Given the description of an element on the screen output the (x, y) to click on. 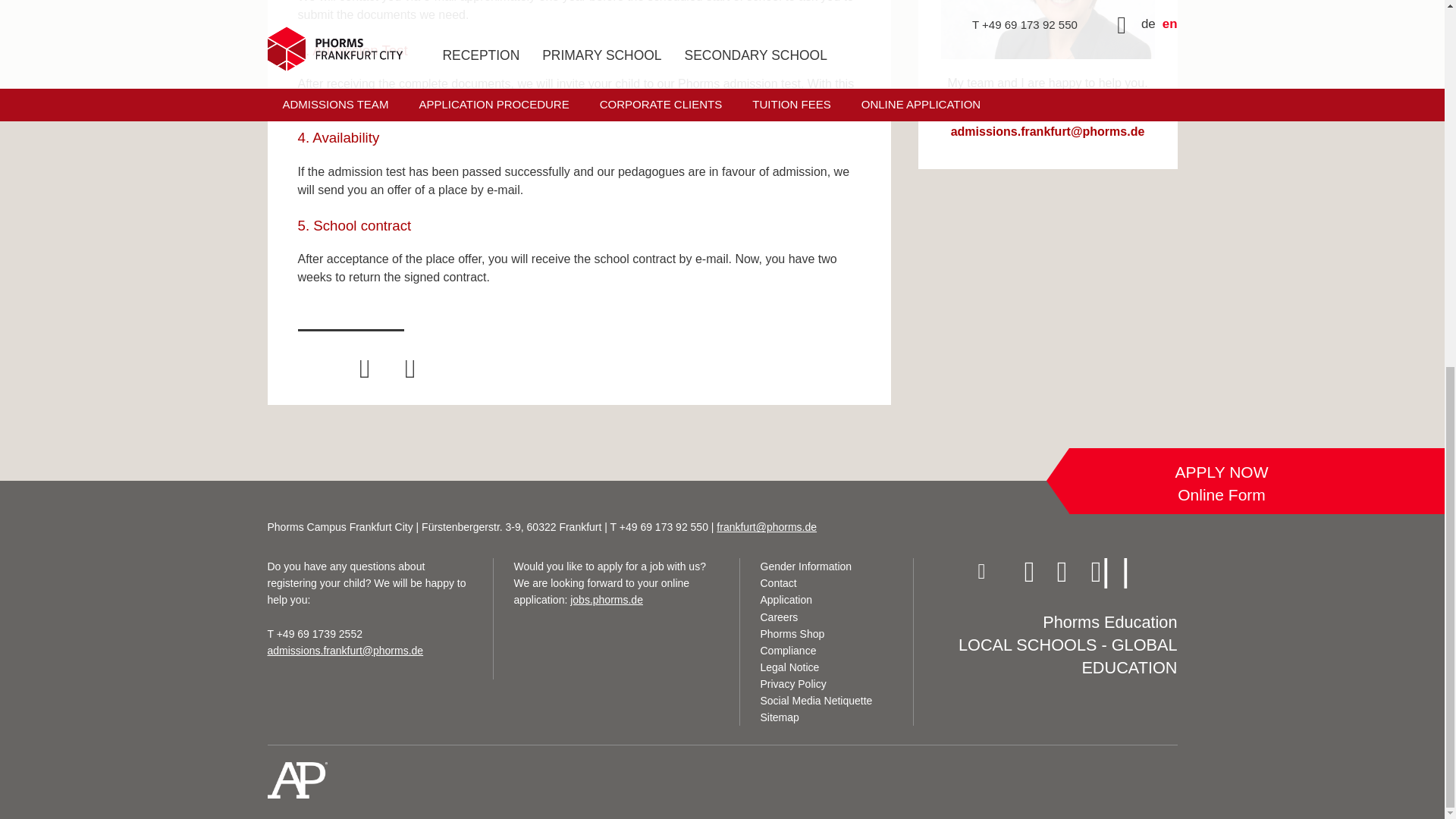
Apply now Online Form (1221, 483)
LinkedIn (1138, 572)
Instagram (989, 572)
sending email (344, 650)
